Given the description of an element on the screen output the (x, y) to click on. 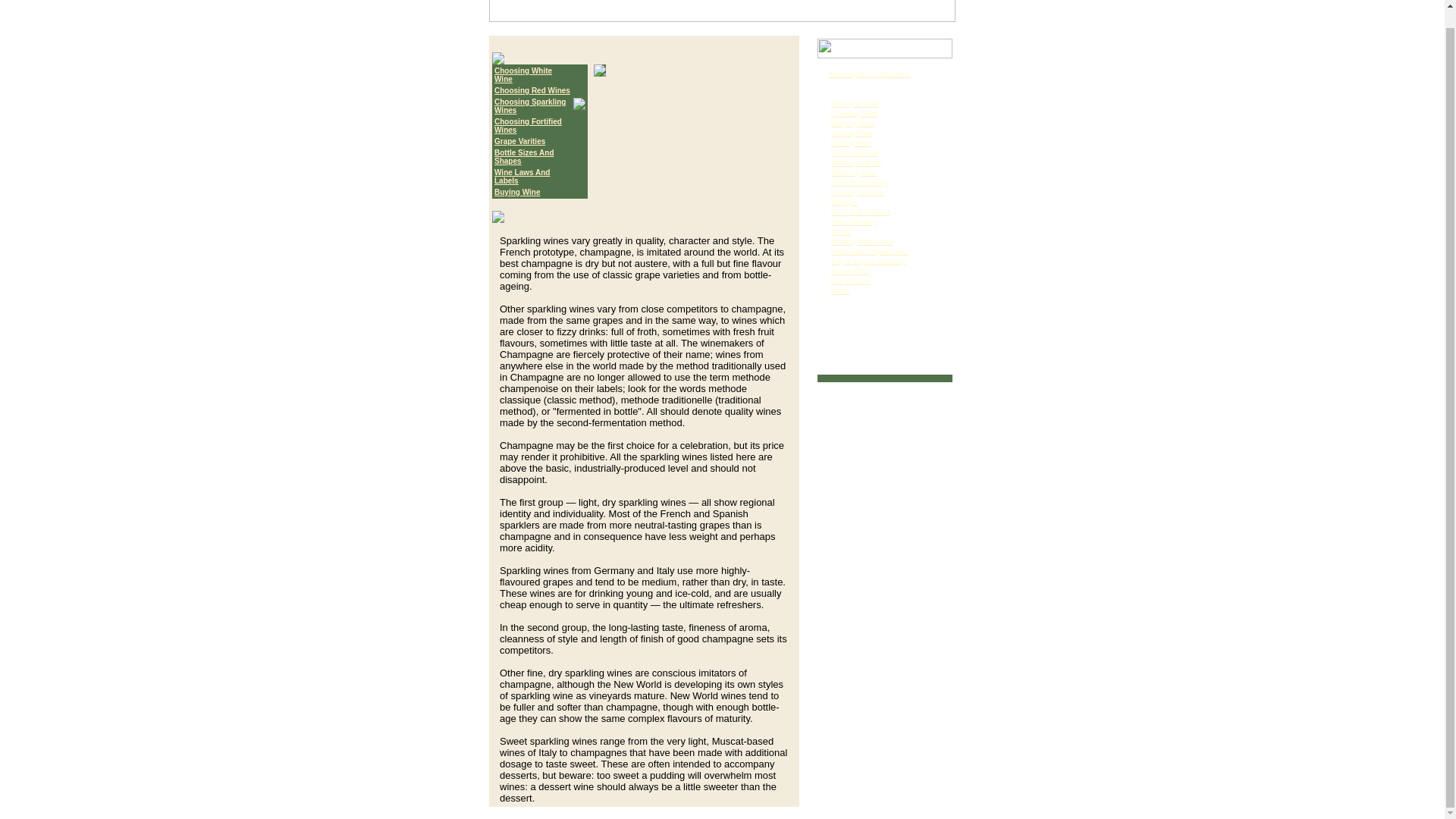
Choosing Wine (854, 112)
Reading Wine Label (862, 241)
Facts And Fallacies (860, 212)
Wine sellers register now (869, 251)
Wine Laws And Labels (522, 176)
Wine regions of the world. (869, 73)
Creating A Cellar (857, 192)
Choosing Sparkling Wines (530, 105)
Home (839, 290)
History of wine (855, 103)
Tasting Wine (850, 142)
Grape Varities (519, 141)
Choosing Red Wines (532, 90)
Serving Wine (851, 132)
Media (840, 231)
